Given the description of an element on the screen output the (x, y) to click on. 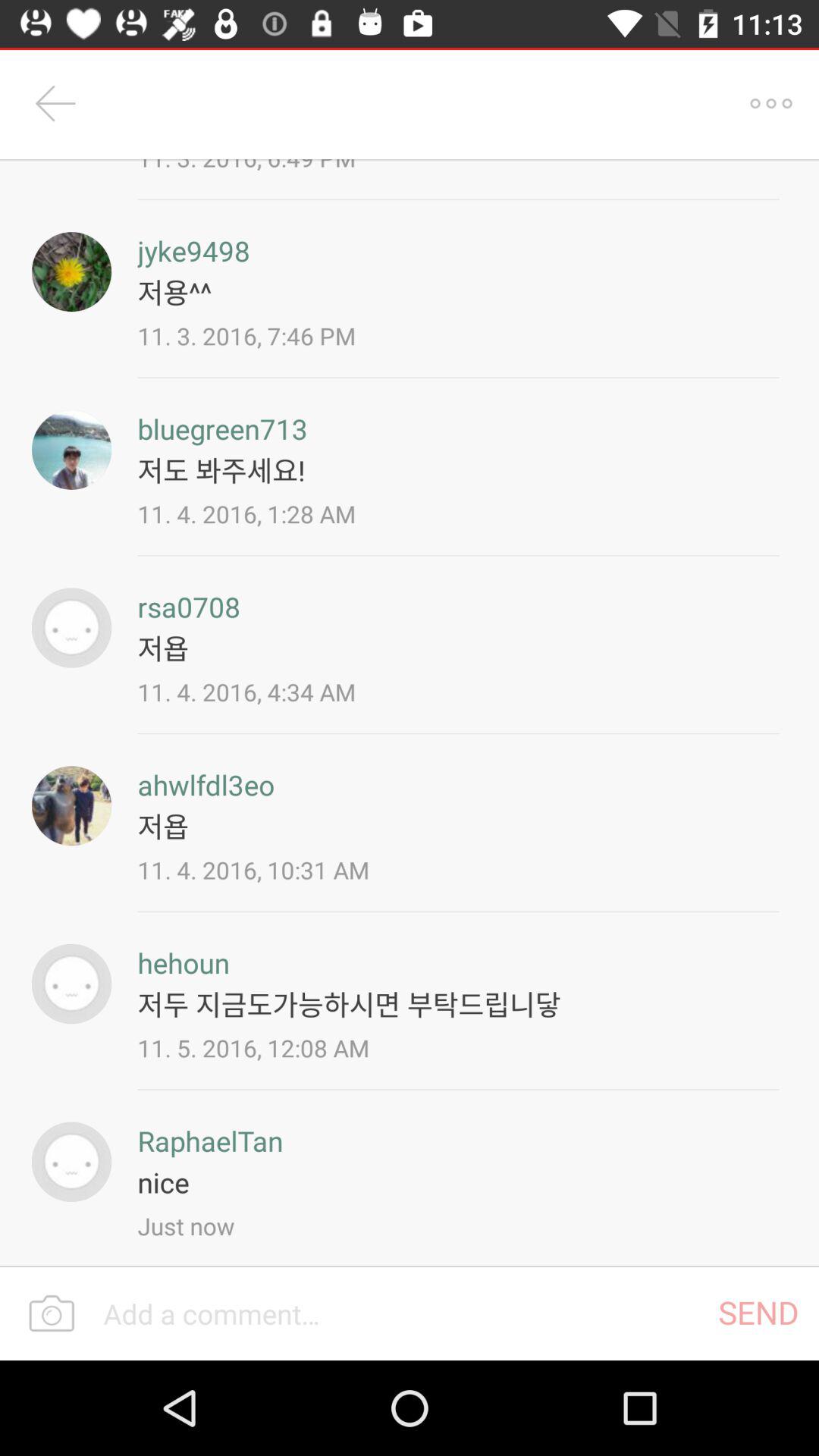
take a photo or image (51, 1314)
